Given the description of an element on the screen output the (x, y) to click on. 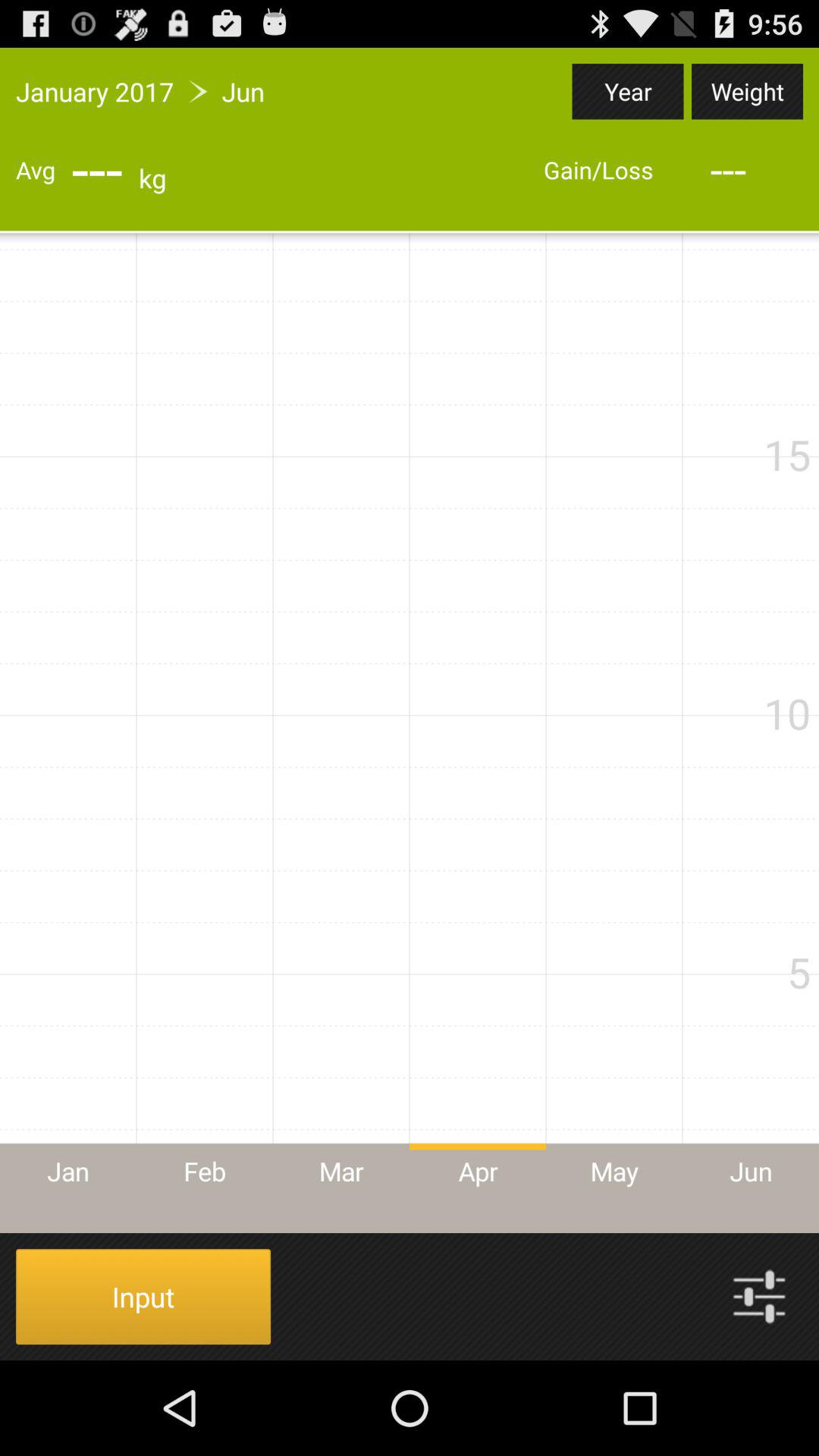
turn on app above --- app (747, 91)
